Given the description of an element on the screen output the (x, y) to click on. 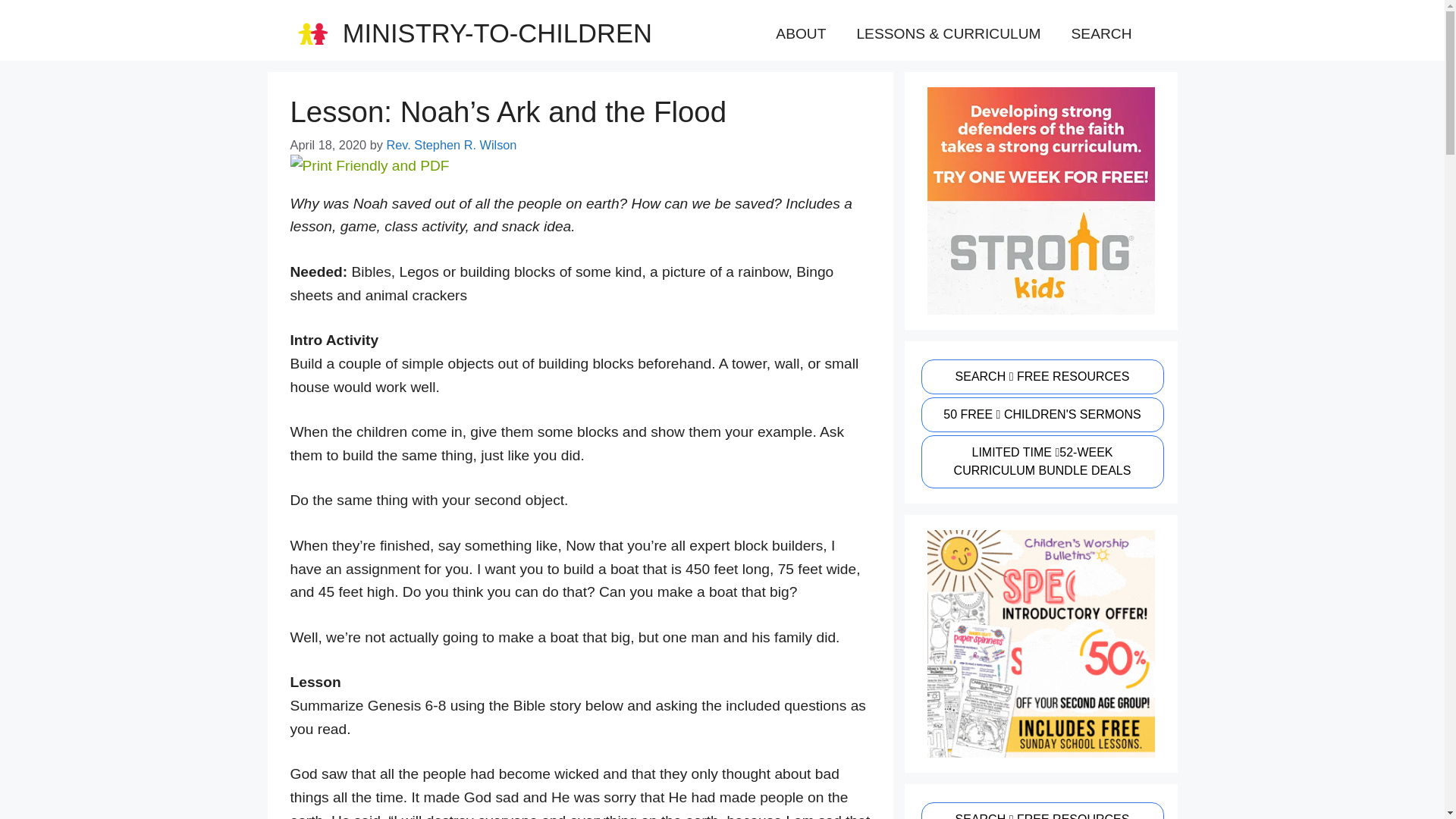
Sunday School Curriculum (1039, 461)
free children's ministry downloads (1039, 810)
free children's minsitry downloads (1039, 376)
Rev. Stephen R. Wilson (450, 144)
View all posts by Rev. Stephen R. Wilson (450, 144)
MINISTRY-TO-CHILDREN (497, 32)
ABOUT (800, 33)
Printer Friendly and PDF (368, 165)
SEARCH (1102, 33)
